Given the description of an element on the screen output the (x, y) to click on. 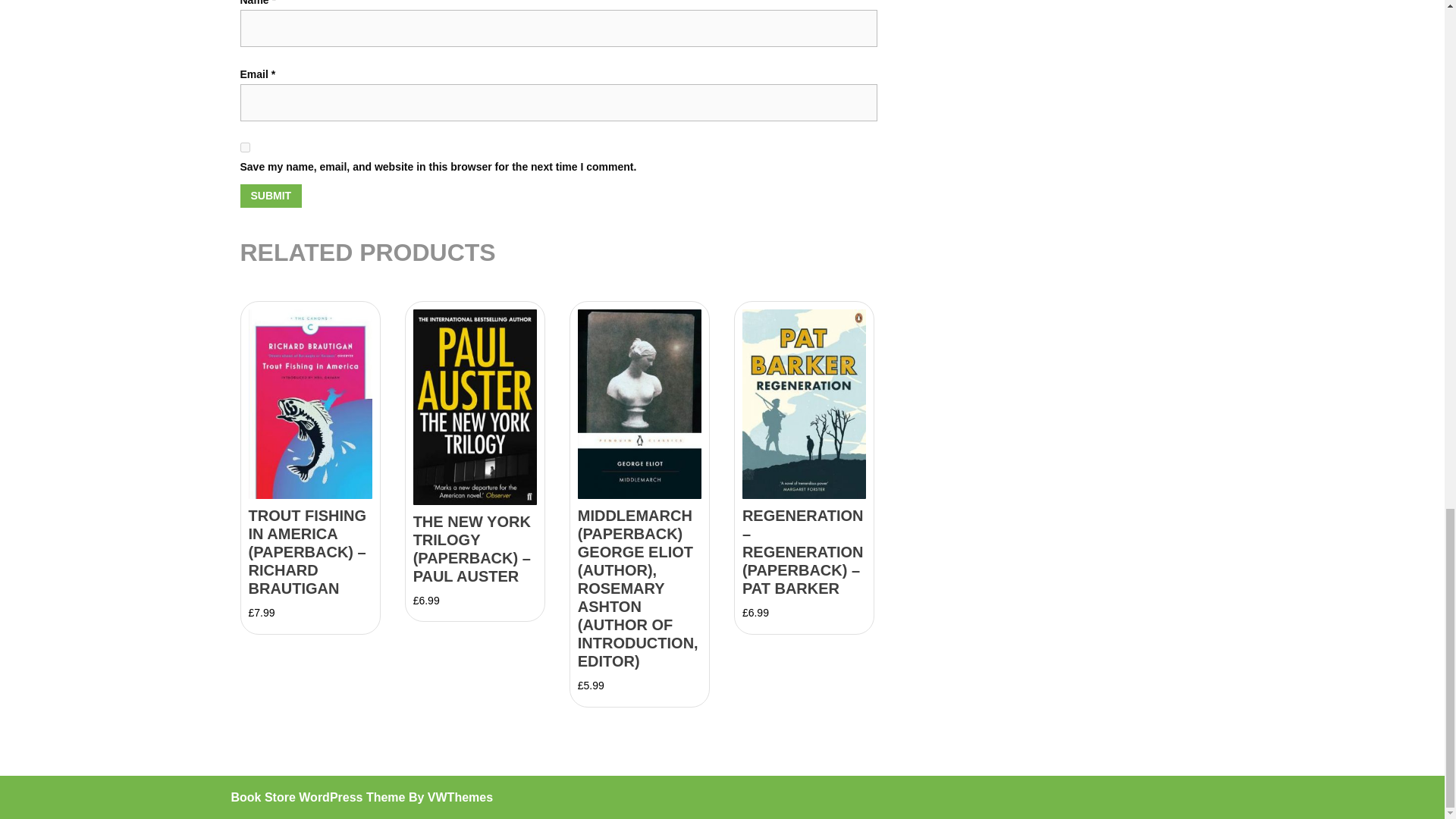
Submit (270, 196)
yes (244, 147)
